Given the description of an element on the screen output the (x, y) to click on. 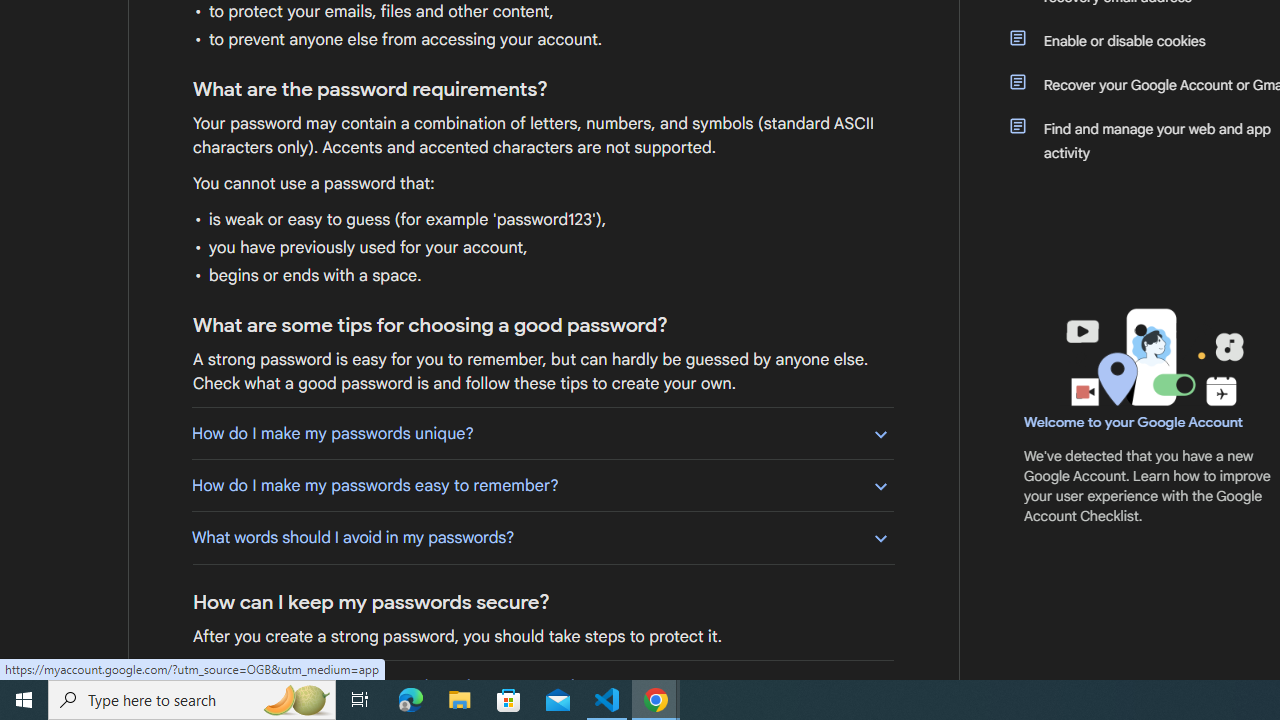
What is the best way to store written down passwords? (542, 686)
What words should I avoid in my passwords? (542, 537)
How do I make my passwords unique? (542, 433)
Welcome to your Google Account (1134, 422)
How do I make my passwords easy to remember? (542, 485)
Learning Center home page image (1152, 357)
